Given the description of an element on the screen output the (x, y) to click on. 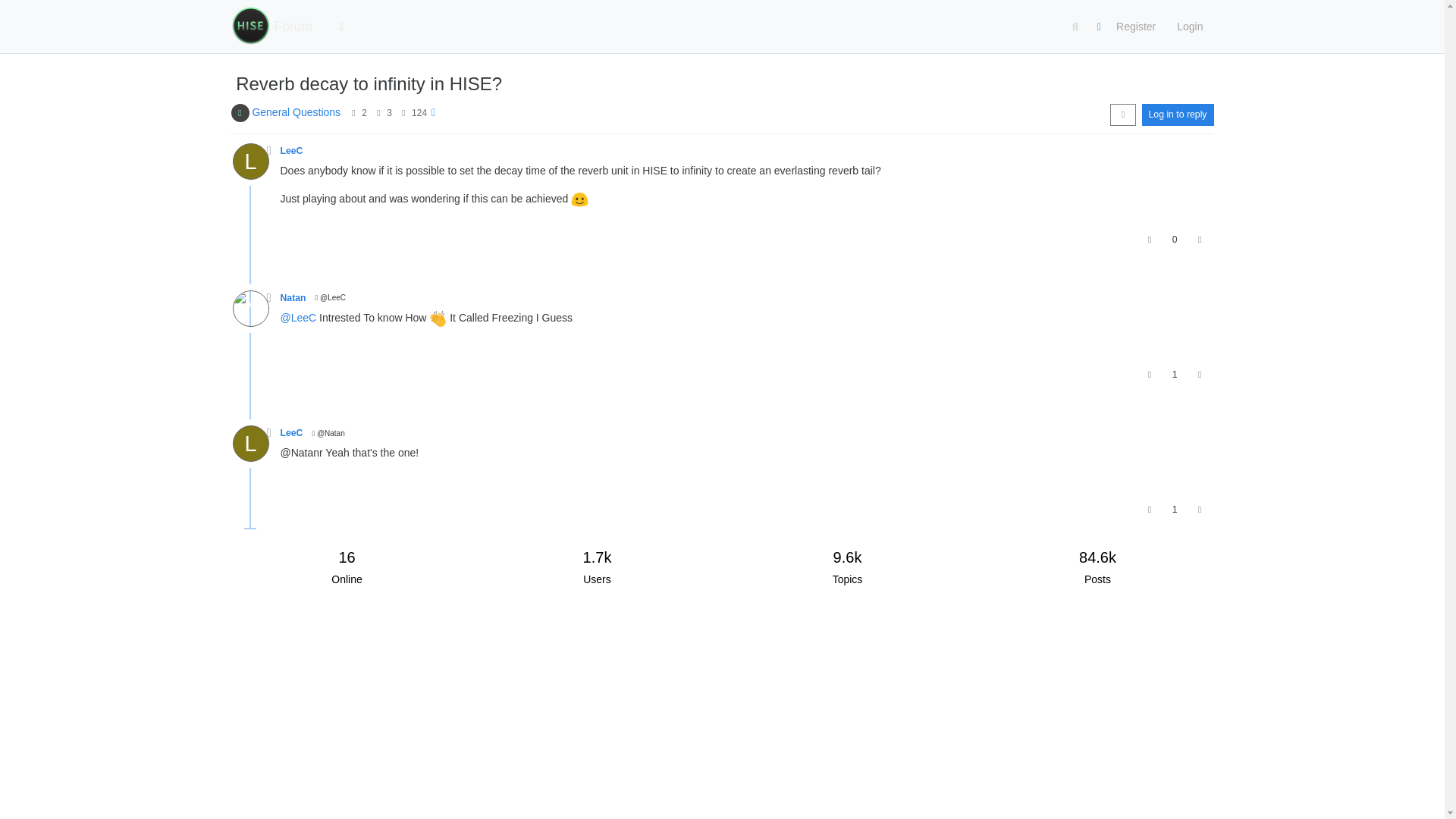
LeeC (249, 161)
Categories (341, 26)
Forum (293, 26)
LeeC (291, 150)
Search (1074, 27)
Posters (353, 112)
124 (419, 112)
L (255, 164)
Sort by (1122, 114)
Log in to reply (1177, 114)
